Given the description of an element on the screen output the (x, y) to click on. 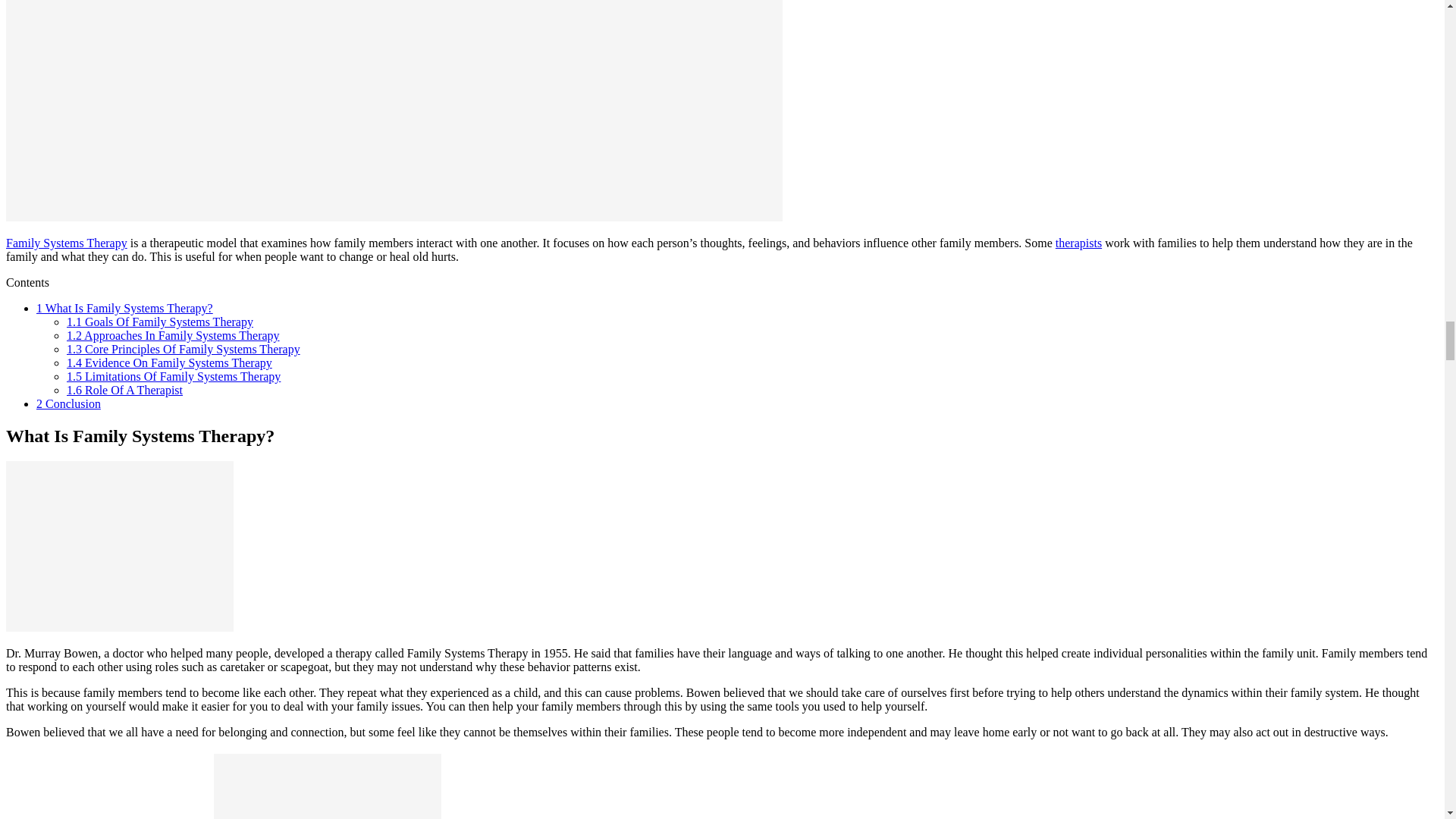
Therapists (1078, 242)
Family Systems Therapy (66, 242)
